Given the description of an element on the screen output the (x, y) to click on. 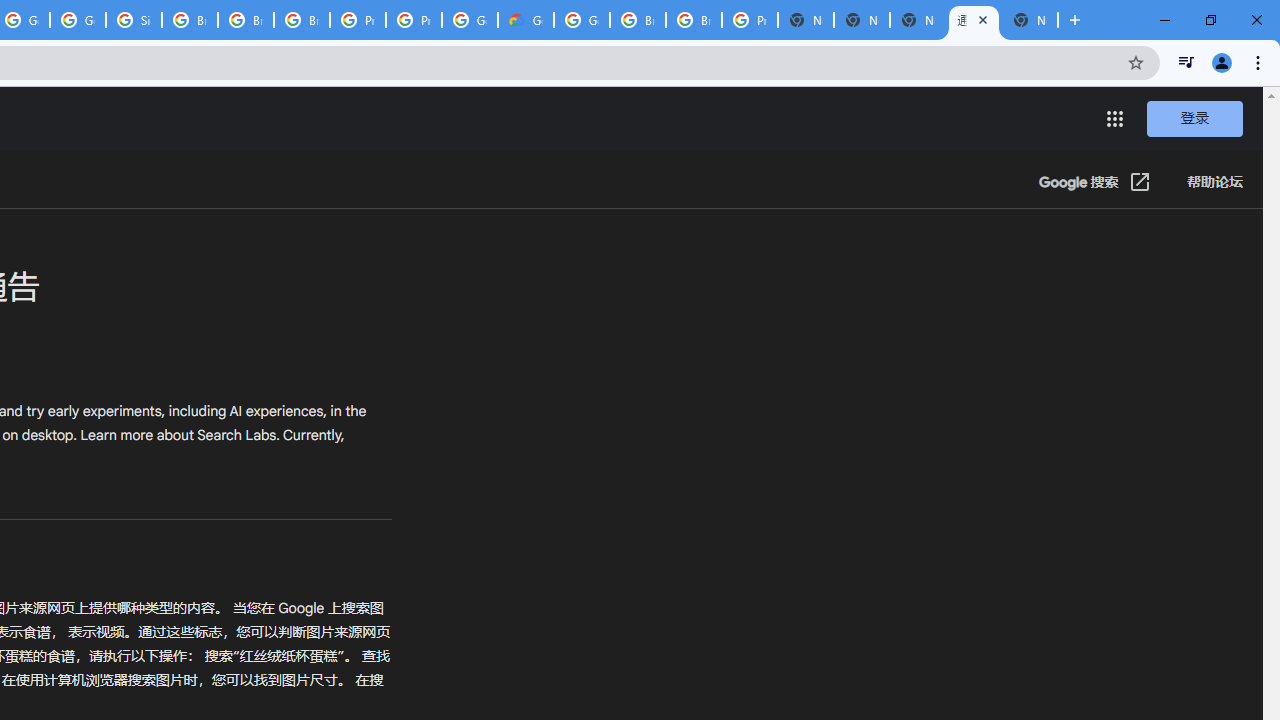
Browse Chrome as a guest - Computer - Google Chrome Help (189, 20)
Sign in - Google Accounts (134, 20)
Browse Chrome as a guest - Computer - Google Chrome Help (301, 20)
Google Cloud Estimate Summary (525, 20)
New Tab (1030, 20)
Google Cloud Platform (582, 20)
New Tab (806, 20)
Browse Chrome as a guest - Computer - Google Chrome Help (245, 20)
